Given the description of an element on the screen output the (x, y) to click on. 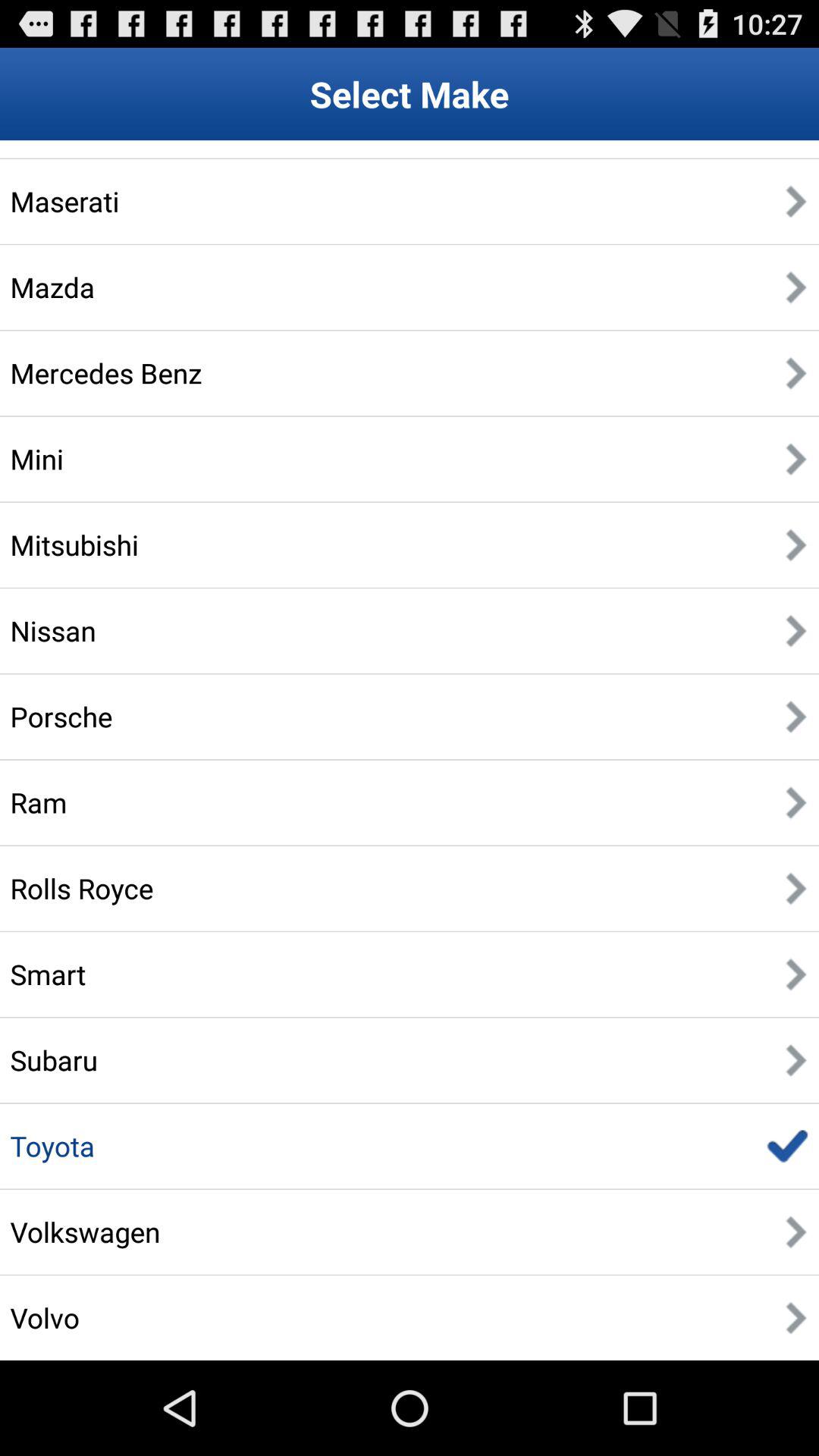
turn off the rolls royce icon (81, 888)
